Given the description of an element on the screen output the (x, y) to click on. 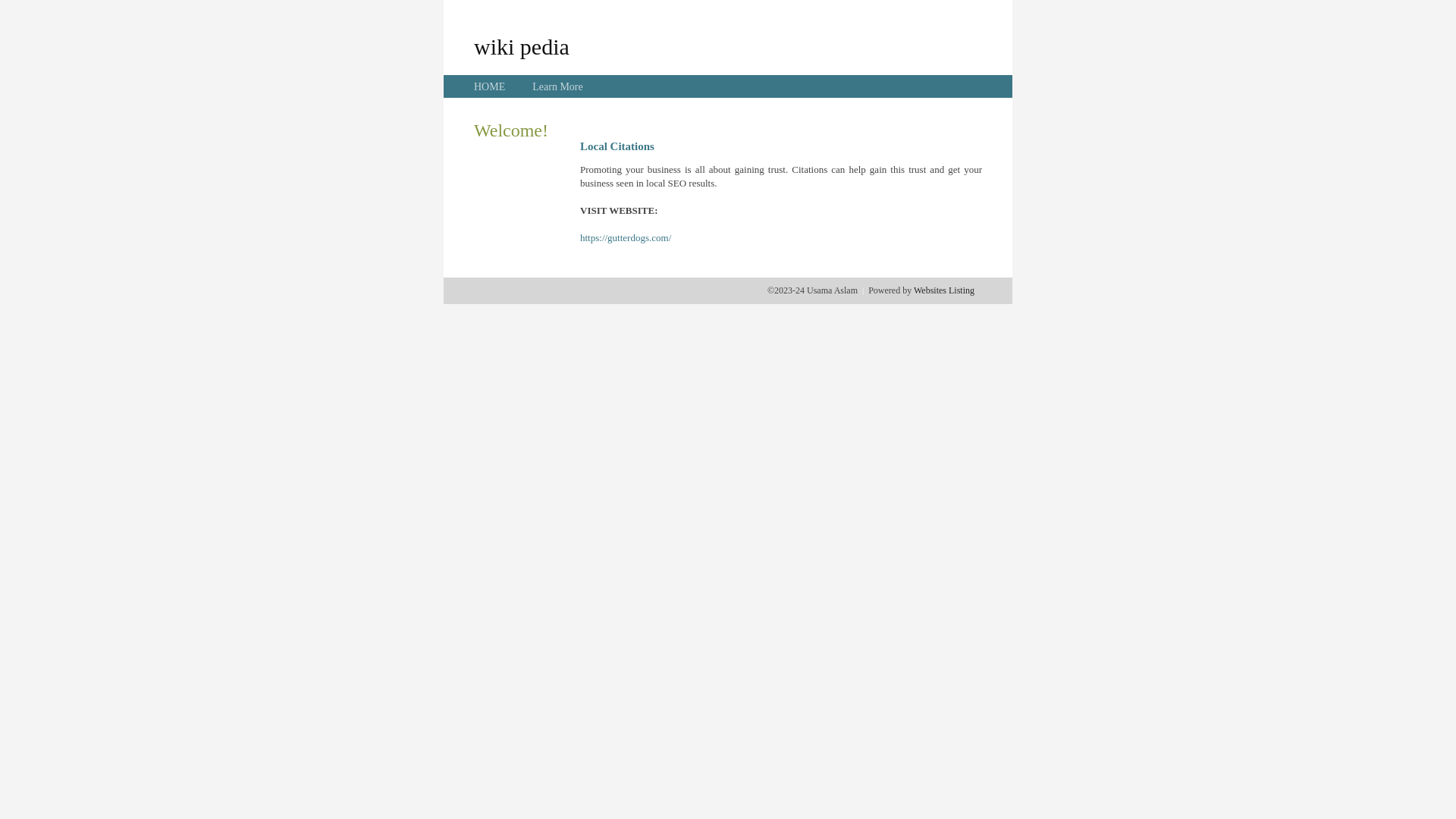
wiki pedia Element type: text (521, 46)
Learn More Element type: text (557, 86)
Websites Listing Element type: text (943, 290)
https://gutterdogs.com/ Element type: text (625, 237)
HOME Element type: text (489, 86)
